Given the description of an element on the screen output the (x, y) to click on. 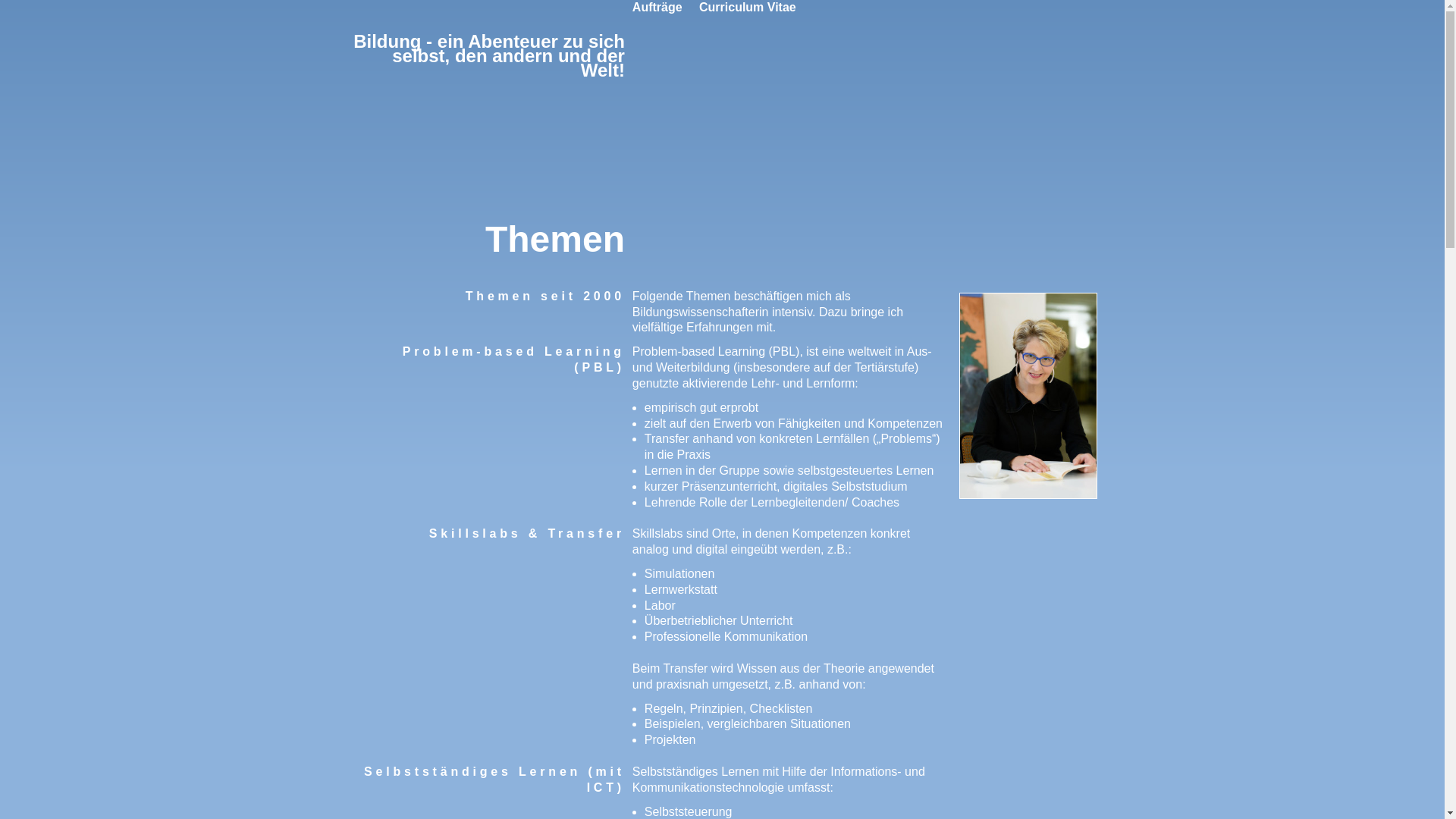
Curriculum Vitae Element type: text (747, 6)
